Given the description of an element on the screen output the (x, y) to click on. 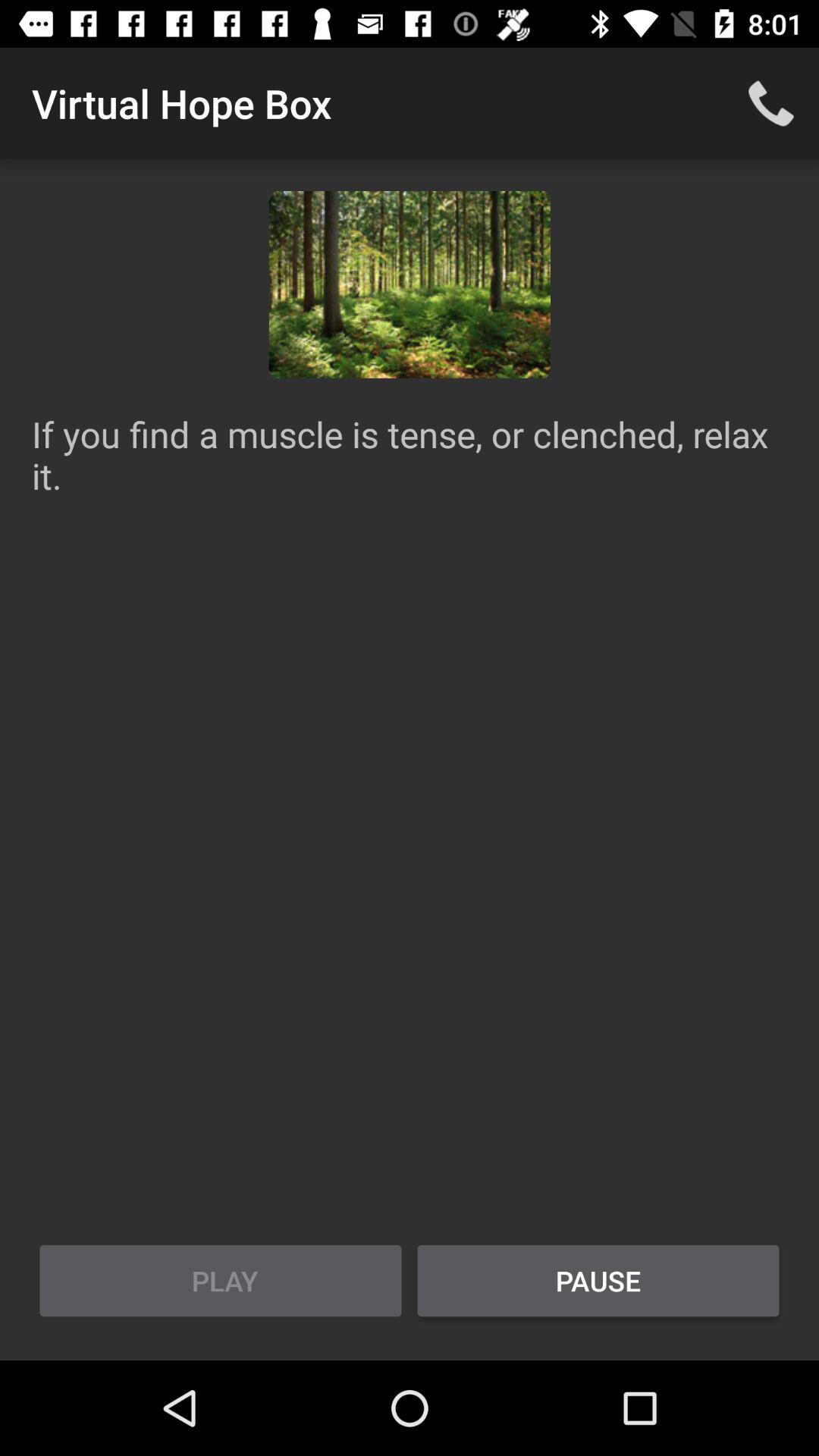
open the icon at the bottom right corner (598, 1280)
